Given the description of an element on the screen output the (x, y) to click on. 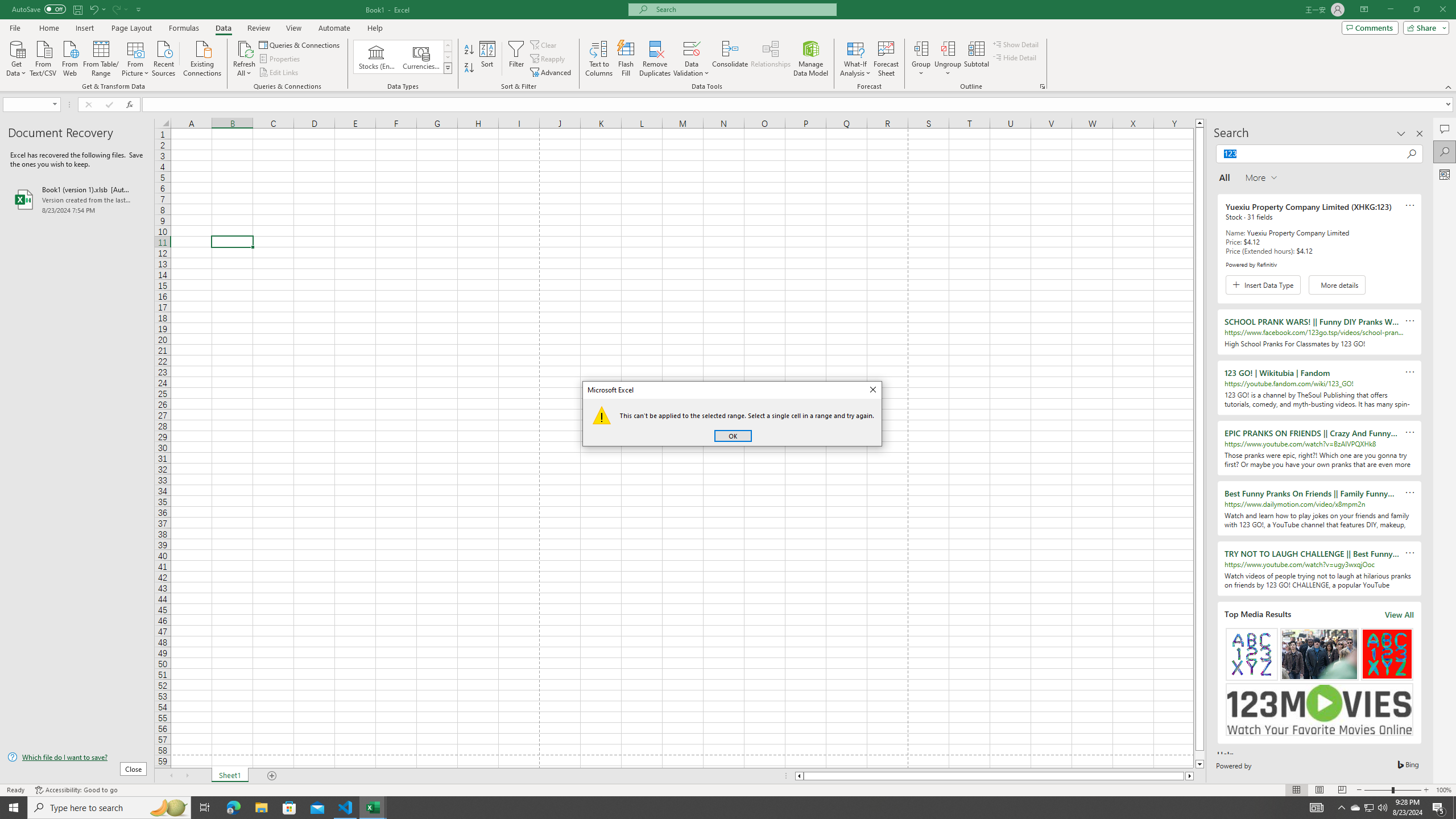
From Text/CSV (43, 57)
AutoSave (38, 9)
Which file do I want to save? (77, 757)
Collapse the Ribbon (1448, 86)
More Options (947, 68)
Sort Z to A (469, 67)
Class: NetUIScrollBar (994, 775)
Visual Studio Code - 1 running window (345, 807)
Formula Bar (799, 104)
Group and Outline Settings (1042, 85)
Analyze Data (1355, 807)
Comments (1444, 173)
Automate (1369, 27)
Forecast Sheet (334, 28)
